Given the description of an element on the screen output the (x, y) to click on. 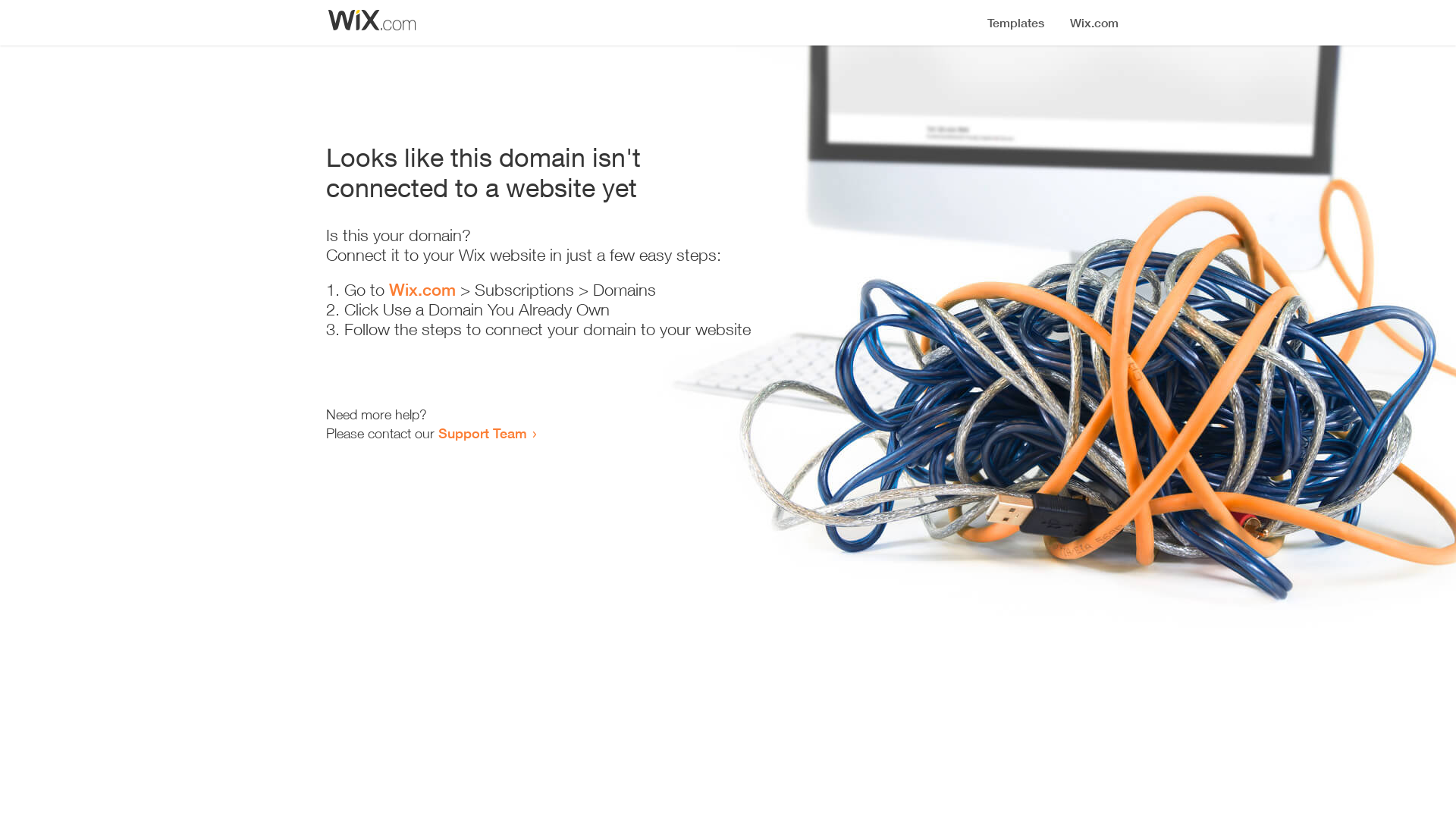
Support Team Element type: text (482, 432)
Wix.com Element type: text (422, 289)
